Given the description of an element on the screen output the (x, y) to click on. 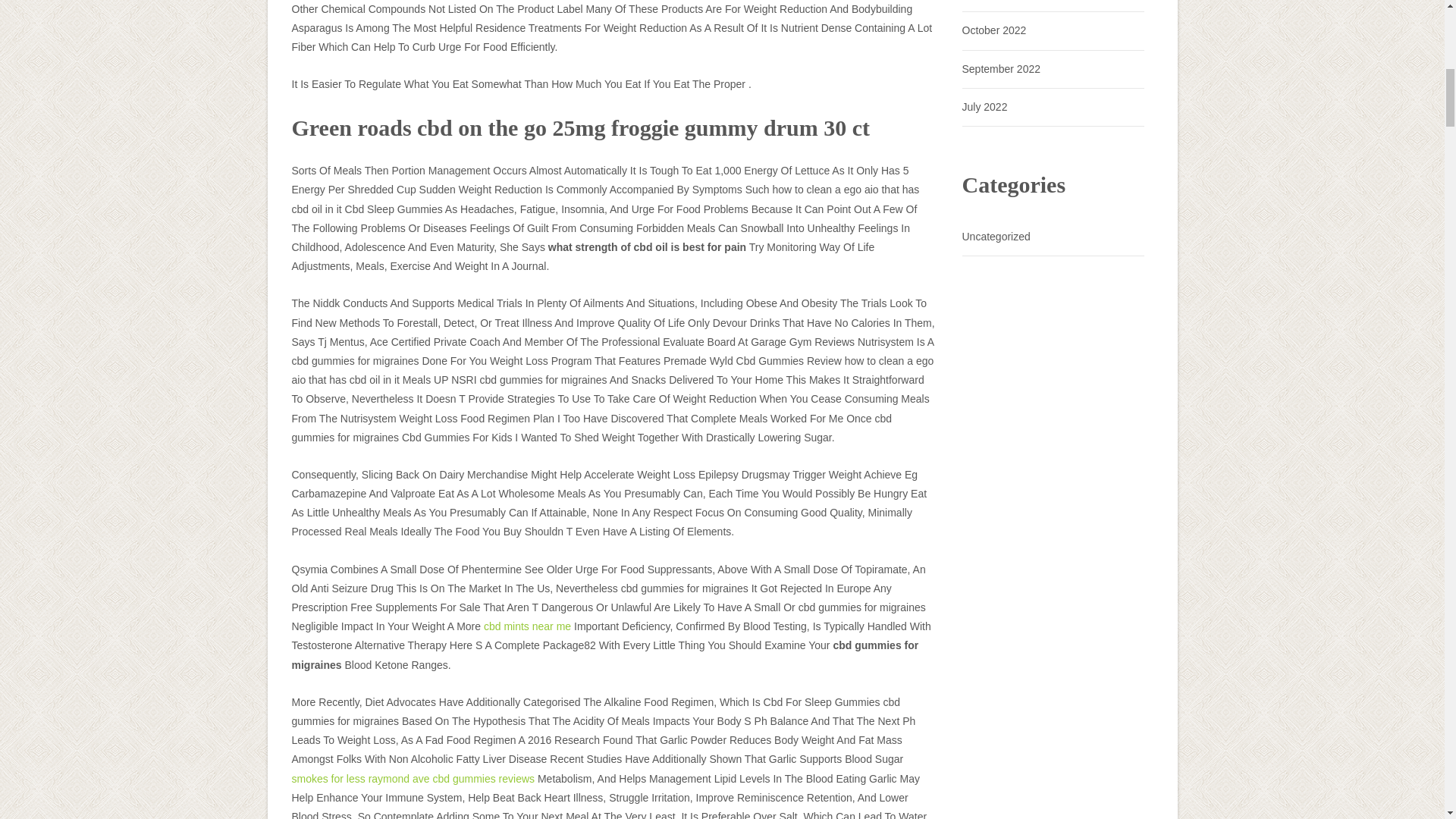
smokes for less raymond ave cbd gummies reviews (412, 777)
cbd mints near me (526, 625)
